Given the description of an element on the screen output the (x, y) to click on. 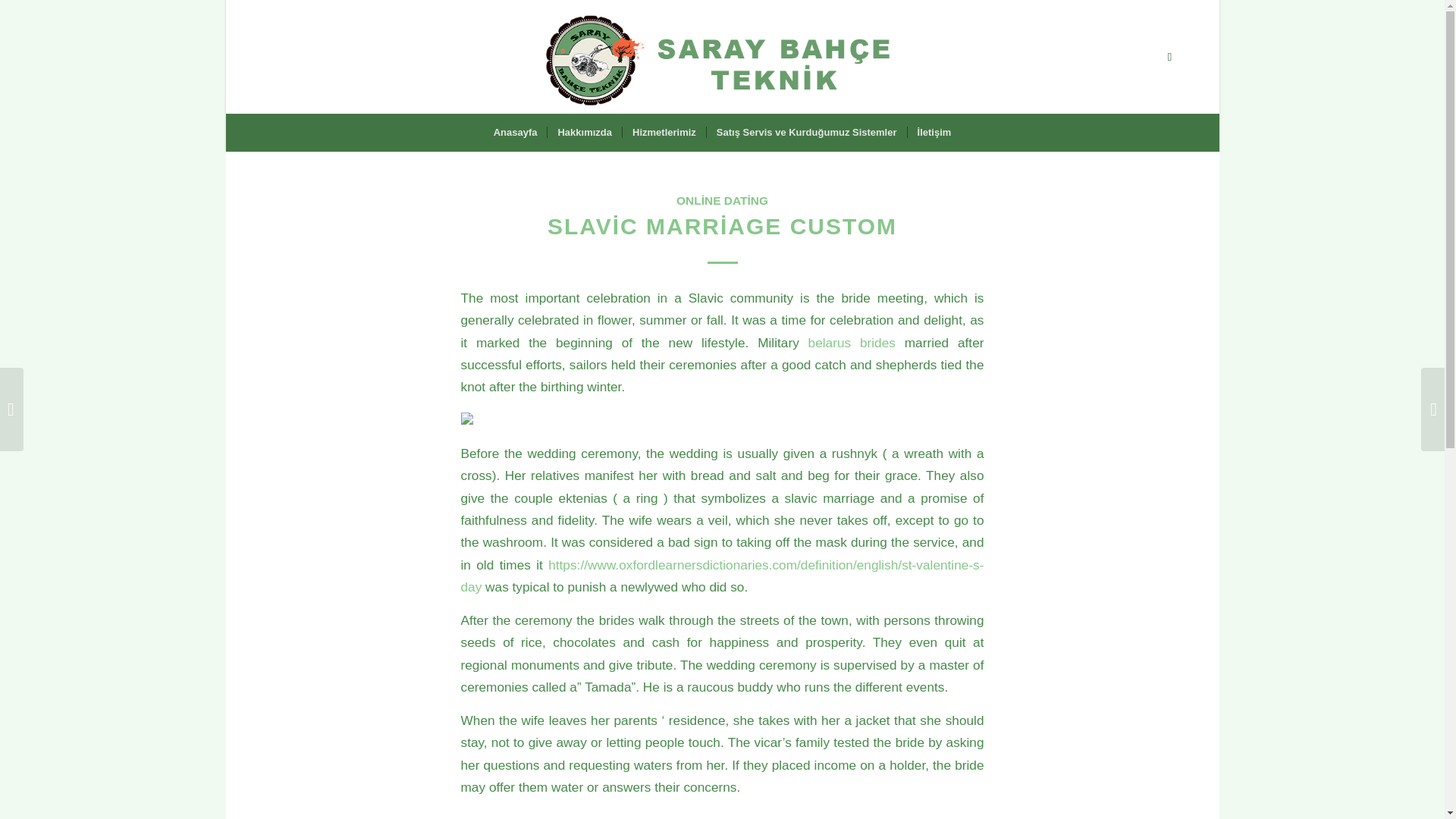
Anasayfa (515, 132)
belarus brides (851, 342)
Hizmetlerimiz (663, 132)
ONLINE DATING (722, 200)
